Given the description of an element on the screen output the (x, y) to click on. 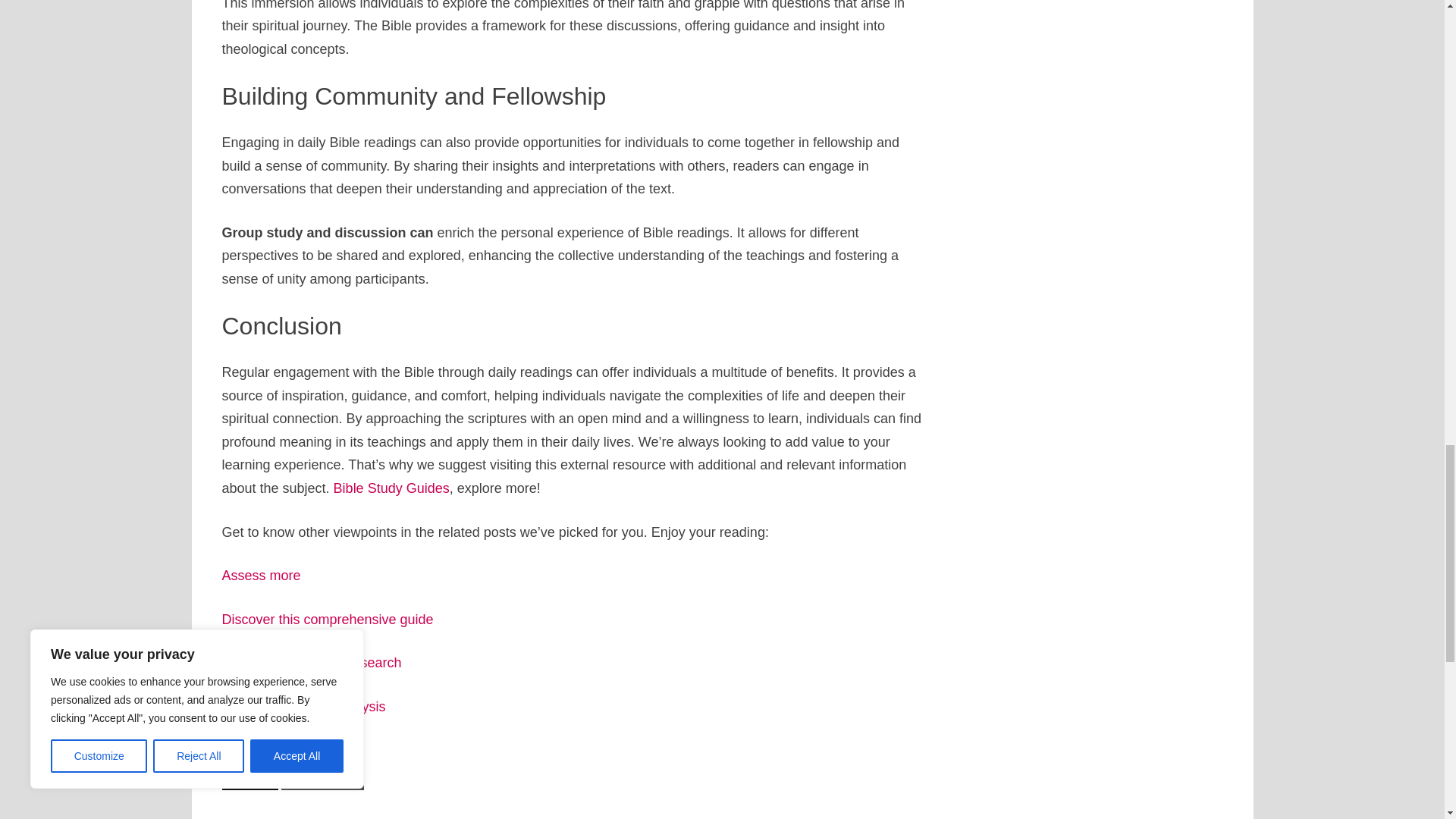
Read this in-depth analysis (303, 706)
Assess more (260, 575)
Discover this comprehensive guide (326, 619)
Explore this detailed research (311, 662)
Bible Study Guides (391, 488)
